Given the description of an element on the screen output the (x, y) to click on. 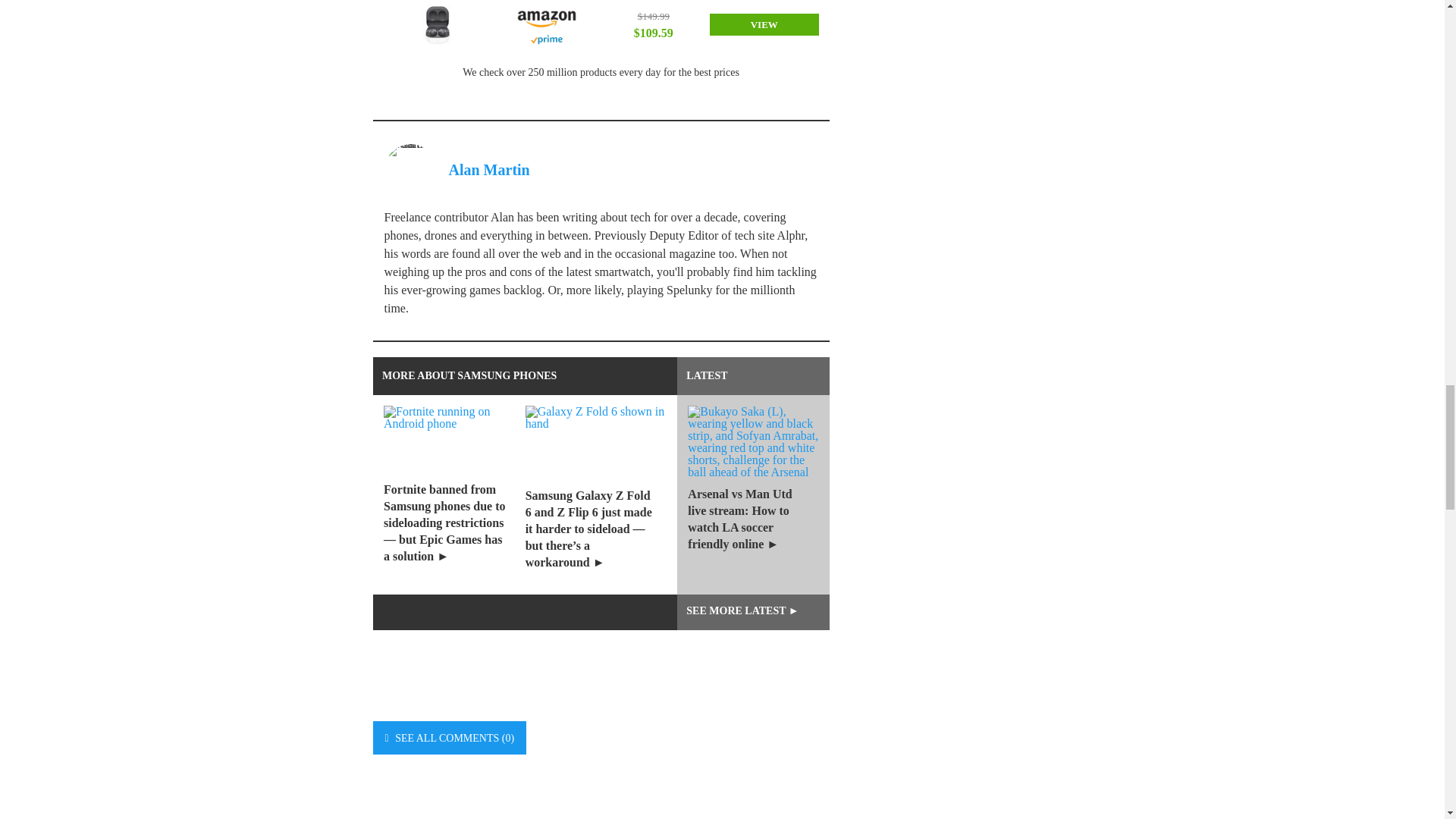
Amazon (546, 16)
SAMSUNG Galaxy Buds 2 True... (437, 25)
Prime (546, 39)
